Given the description of an element on the screen output the (x, y) to click on. 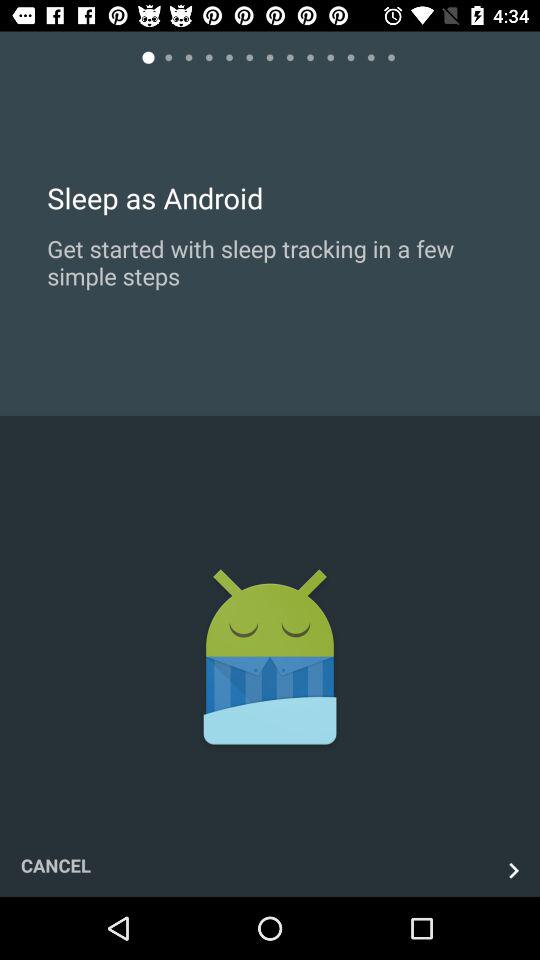
next (513, 870)
